Given the description of an element on the screen output the (x, y) to click on. 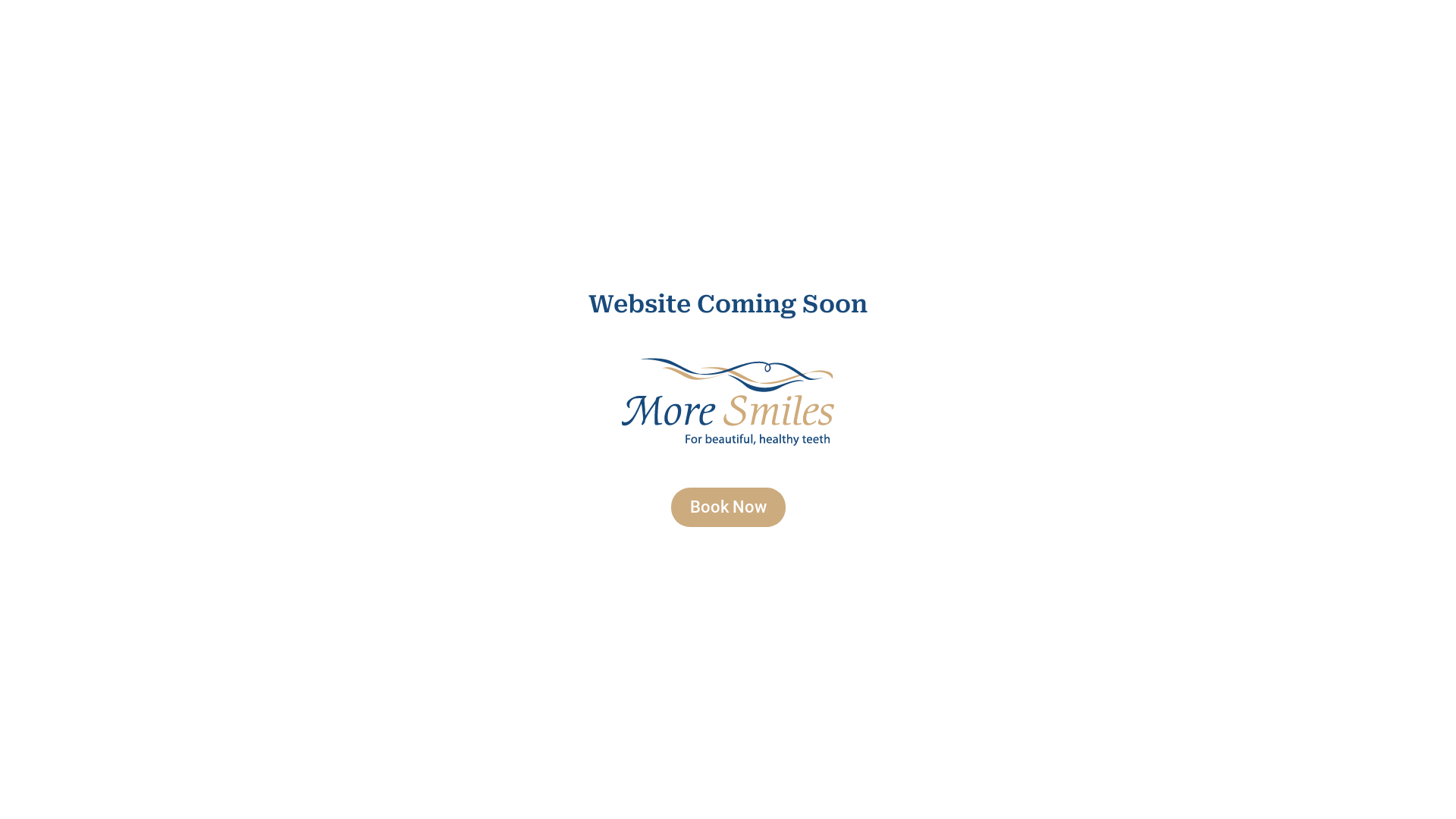
Book Now Element type: text (727, 507)
